Given the description of an element on the screen output the (x, y) to click on. 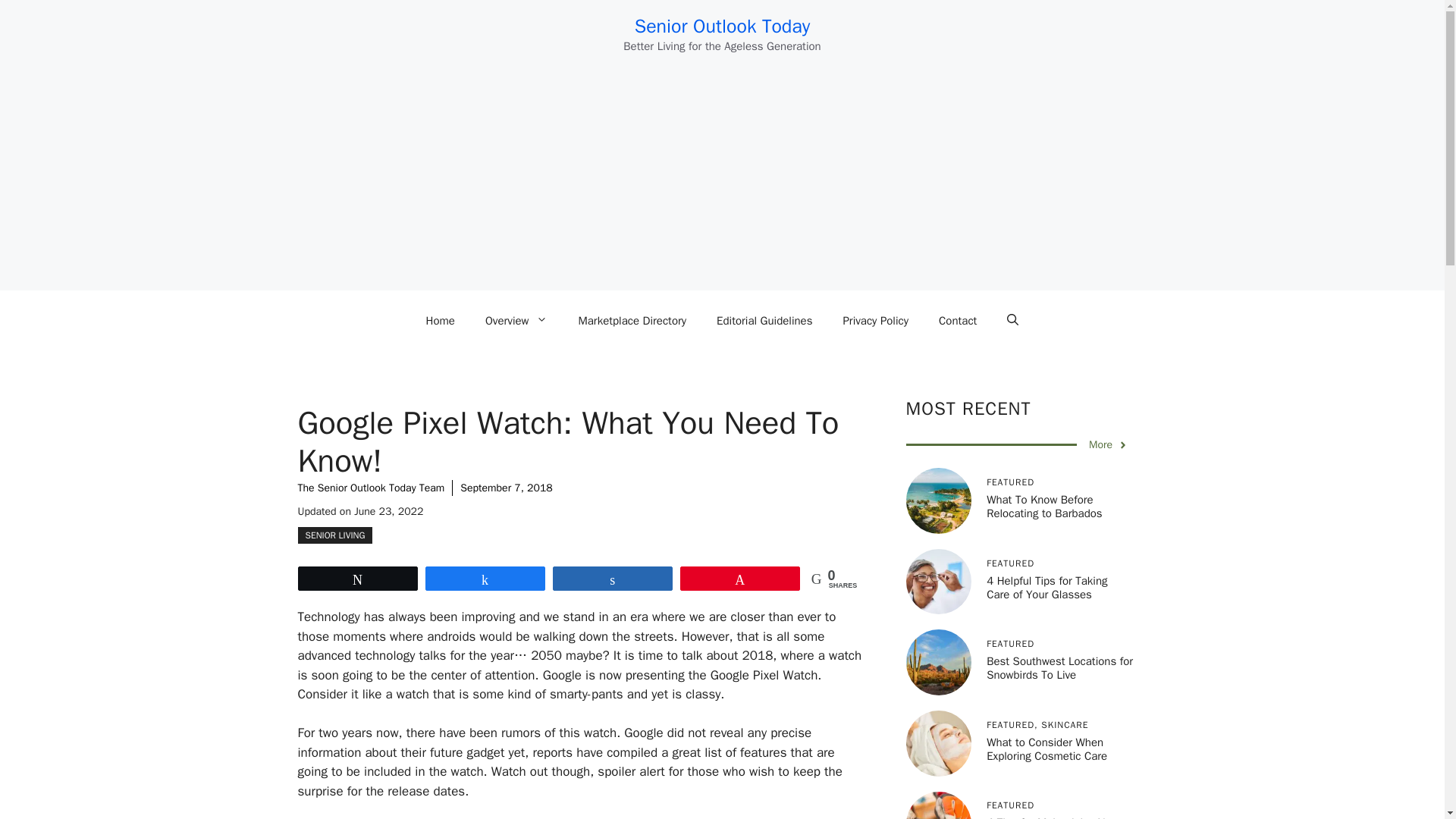
Privacy Policy (875, 320)
Editorial Guidelines (764, 320)
Senior Outlook Today (722, 25)
What to Consider When Exploring Cosmetic Care (1046, 748)
4 Tips for Maintaining Your Landscaping Equipment (1053, 817)
Marketplace Directory (631, 320)
The Senior Outlook Today Team (370, 487)
More (1108, 444)
SENIOR LIVING (334, 535)
